Given the description of an element on the screen output the (x, y) to click on. 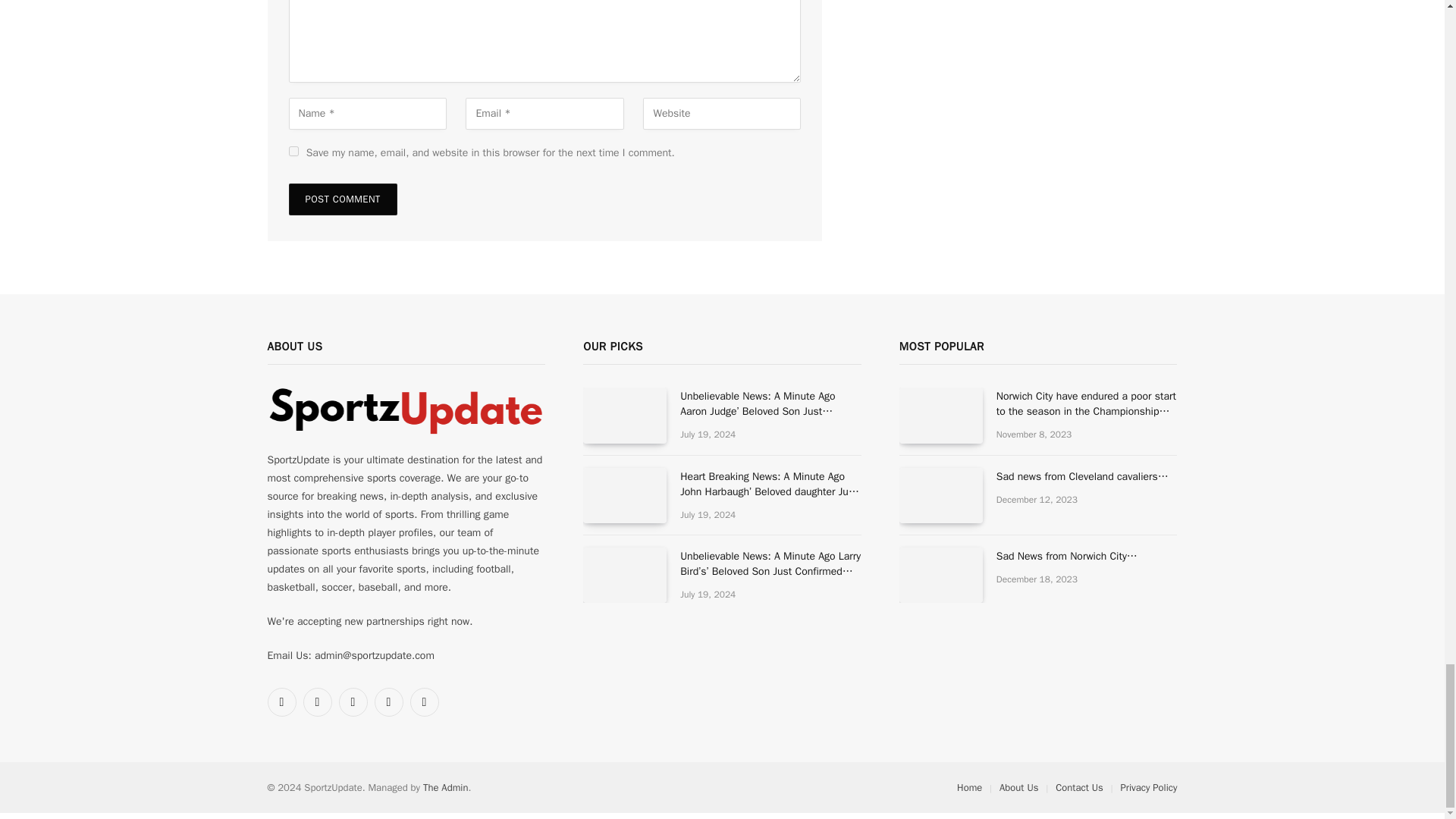
Post Comment (342, 199)
yes (293, 151)
